Given the description of an element on the screen output the (x, y) to click on. 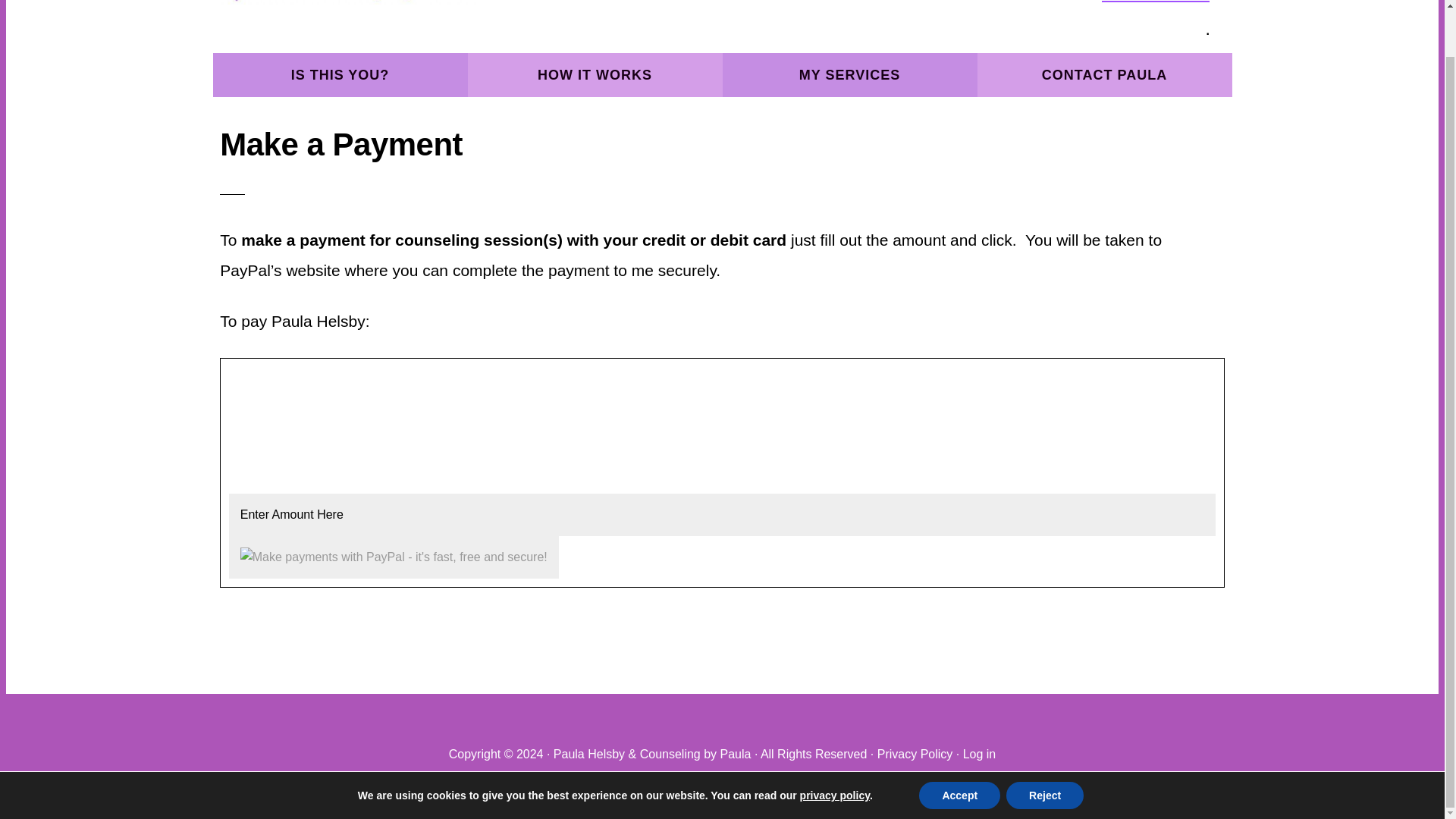
Reject (1044, 746)
MY SERVICES (849, 75)
Unsplash (830, 779)
MAKE A PAYMENT (1155, 1)
Accept (959, 746)
CLIENT FORMS (1036, 1)
CONTACT PAULA (1103, 75)
privacy policy (834, 746)
George Nifakos (742, 779)
ABOUT (949, 1)
